Given the description of an element on the screen output the (x, y) to click on. 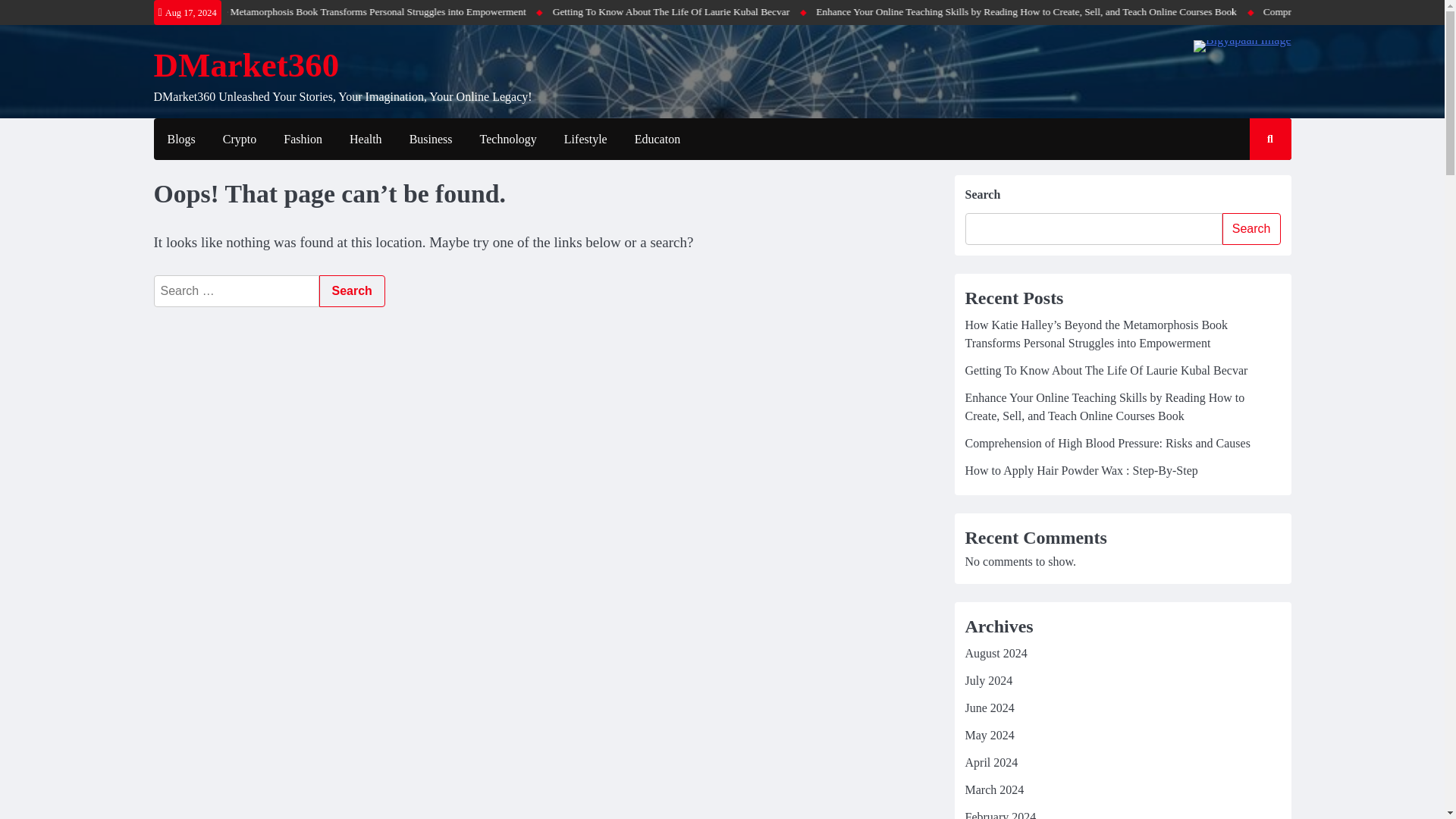
Technology (507, 139)
February 2024 (999, 814)
DMarket360 (245, 64)
Search (351, 291)
Blogs (180, 139)
June 2024 (988, 707)
Comprehension of High Blood Pressure: Risks and Causes (1106, 442)
Business (430, 139)
May 2024 (988, 735)
